Given the description of an element on the screen output the (x, y) to click on. 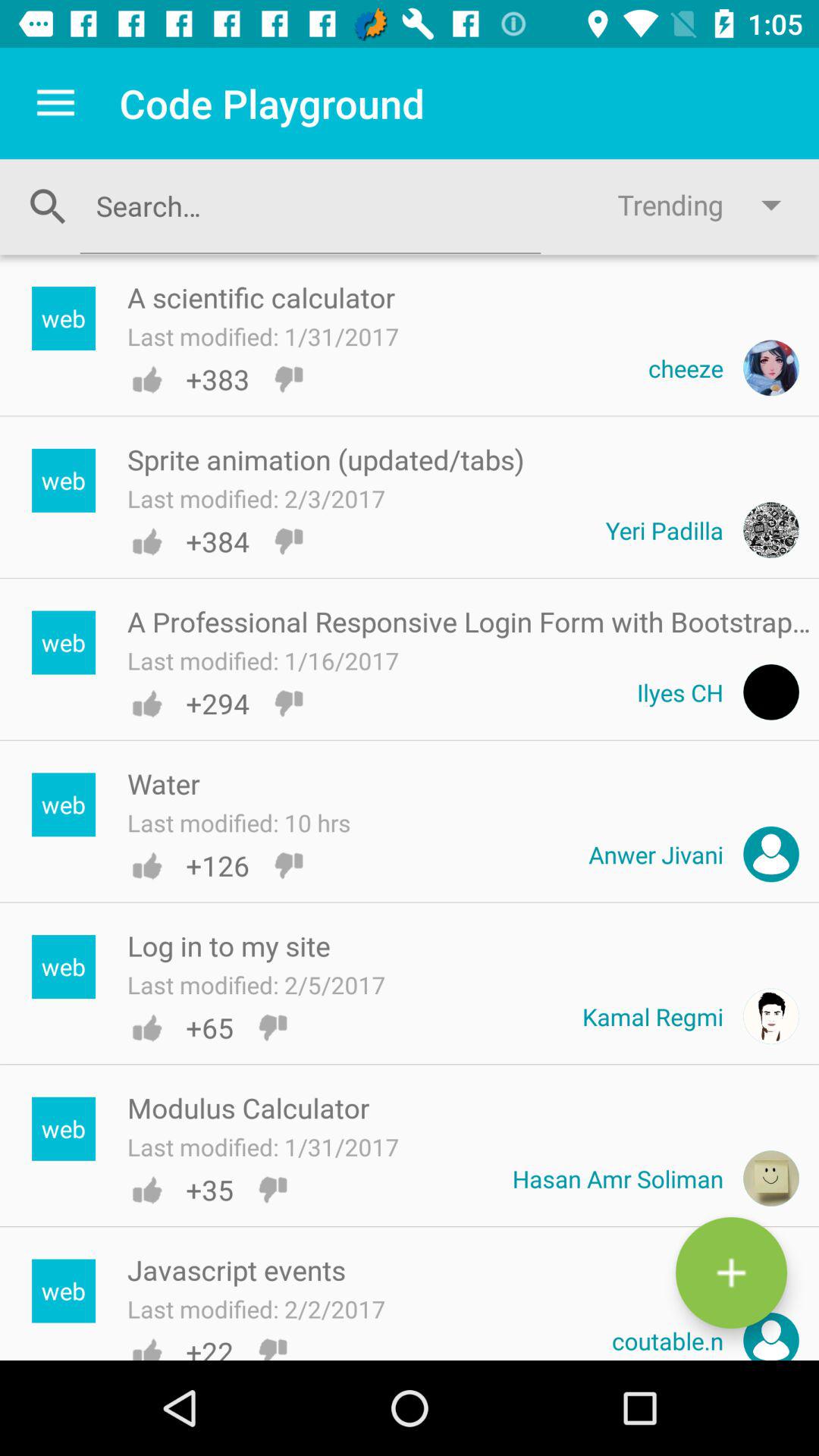
input search term (310, 205)
